Given the description of an element on the screen output the (x, y) to click on. 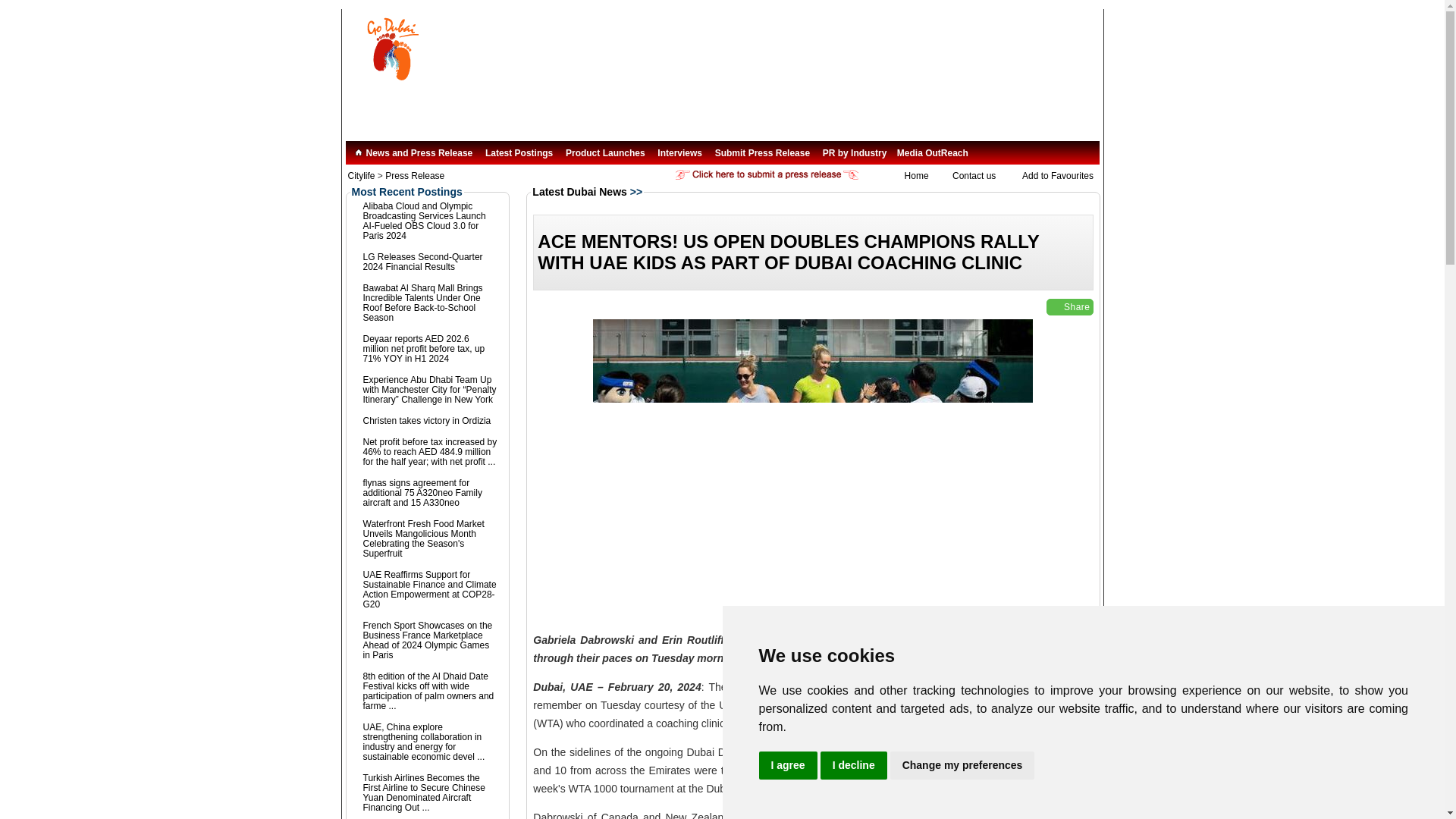
I decline (853, 765)
Citylife (360, 175)
EVENTS (705, 107)
EDUCATION (837, 107)
  News and Press Release  (412, 153)
TOURS (784, 107)
 PR by Industry  (853, 153)
 Latest Postings  (519, 153)
I agree (787, 765)
Change my preferences (962, 765)
 Interviews  (678, 153)
TOURIST INFO (386, 107)
JOBS (746, 107)
CITYLIFE (448, 107)
BUSINESS (898, 107)
